Given the description of an element on the screen output the (x, y) to click on. 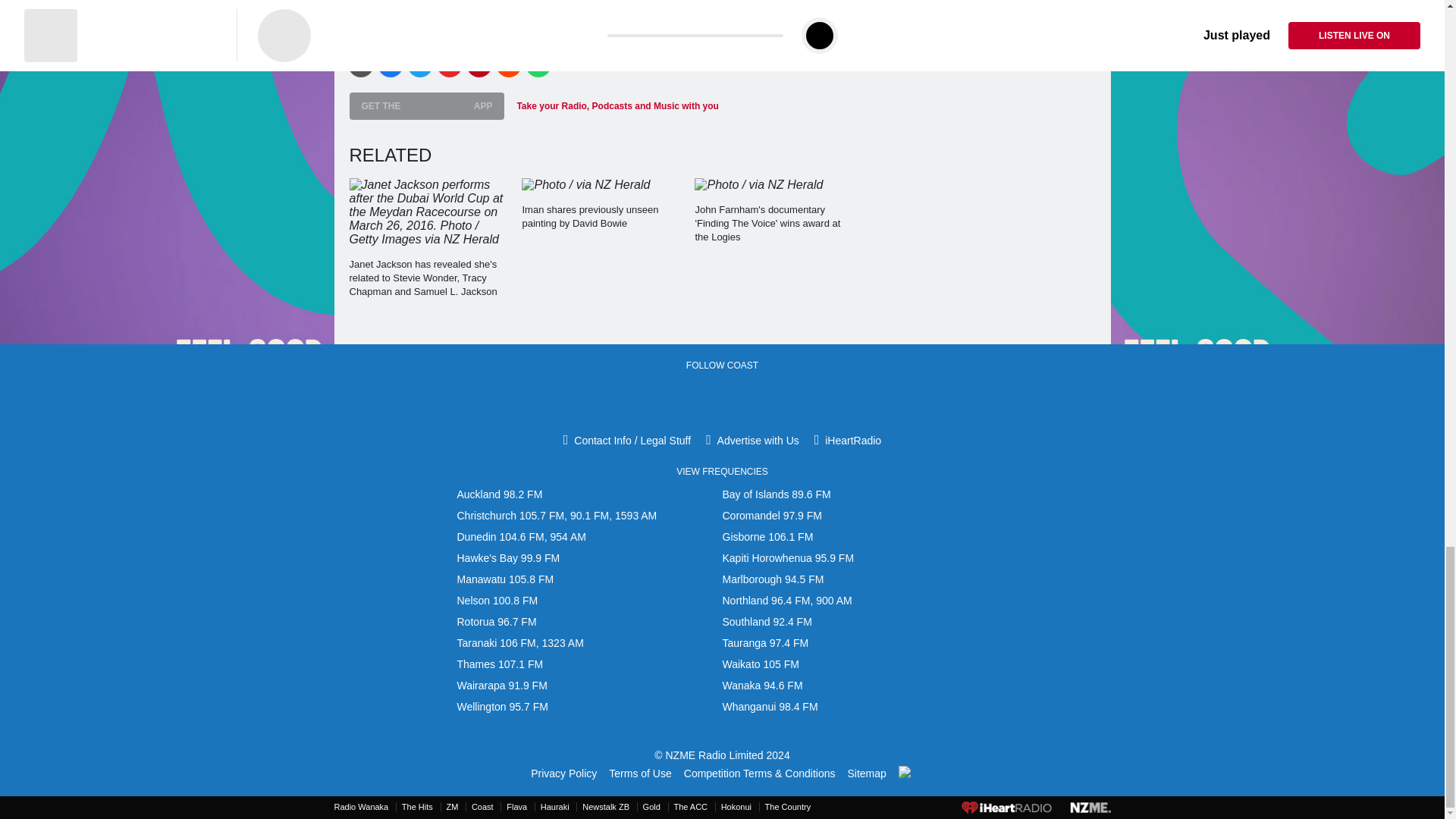
Share with reddit (508, 63)
Share with pinterest (478, 63)
Share with facebook (390, 63)
Share with flipboard (449, 63)
Share with twitter (419, 63)
Share with whatsapp (537, 63)
Share with email (359, 63)
